Given the description of an element on the screen output the (x, y) to click on. 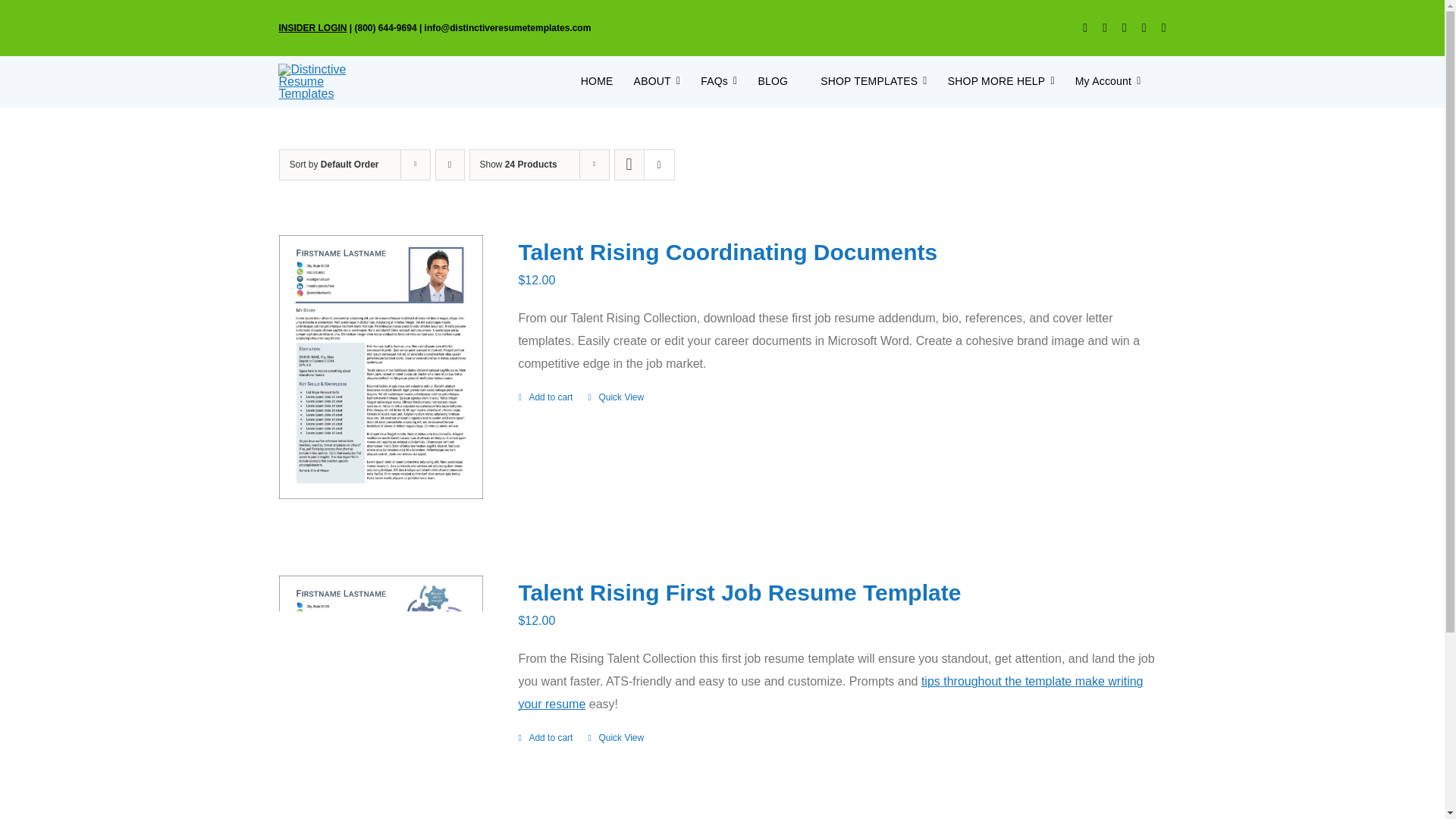
SHOP TEMPLATES (867, 81)
BLOG (772, 81)
ABOUT (656, 81)
FAQs (718, 81)
HOME (596, 81)
SHOP MORE HELP (1001, 81)
INSIDER LOGIN (312, 27)
